Given the description of an element on the screen output the (x, y) to click on. 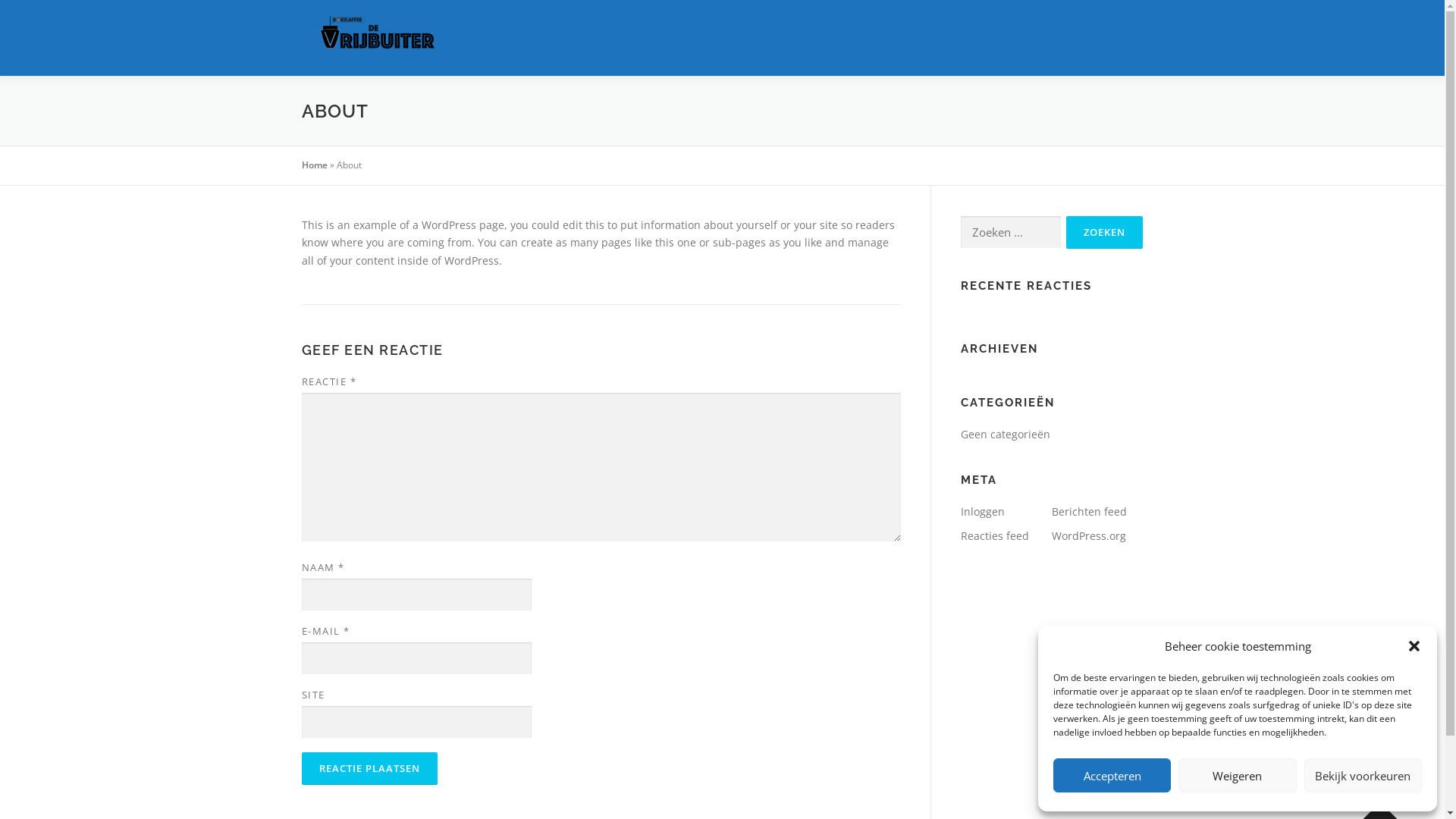
Inloggen Element type: text (982, 511)
WordPress.org Element type: text (1088, 535)
Reactie plaatsen Element type: text (369, 768)
Weigeren Element type: text (1236, 775)
Berichten feed Element type: text (1088, 511)
Zoeken Element type: text (1104, 232)
Bekijk voorkeuren Element type: text (1362, 775)
Reacties feed Element type: text (994, 535)
Home Element type: text (314, 164)
Accepteren Element type: text (1111, 775)
